Given the description of an element on the screen output the (x, y) to click on. 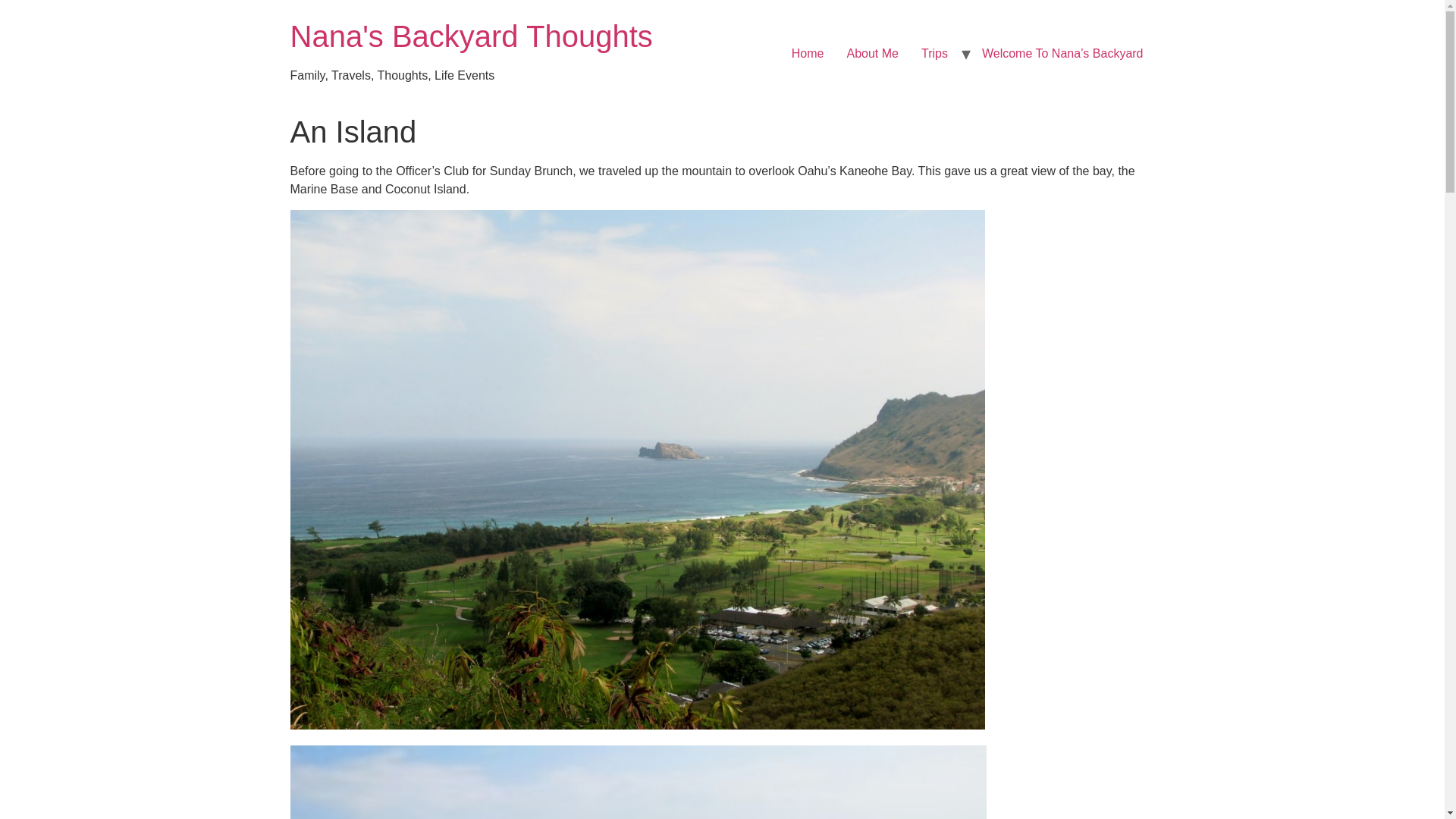
Nana's Backyard Thoughts (470, 36)
Home (470, 36)
Home (807, 53)
Trips (934, 53)
About Me (872, 53)
